Given the description of an element on the screen output the (x, y) to click on. 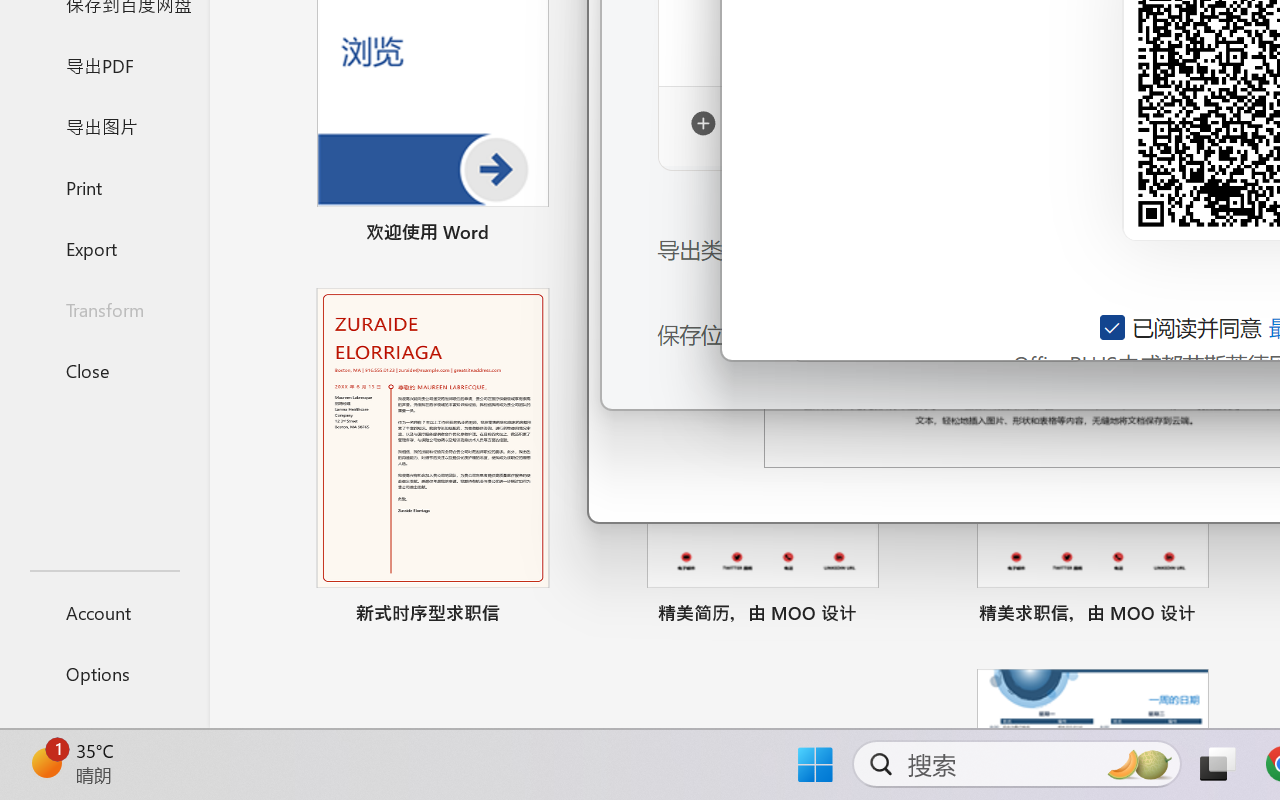
AutomationID: checkbox-14 (1114, 327)
